Given the description of an element on the screen output the (x, y) to click on. 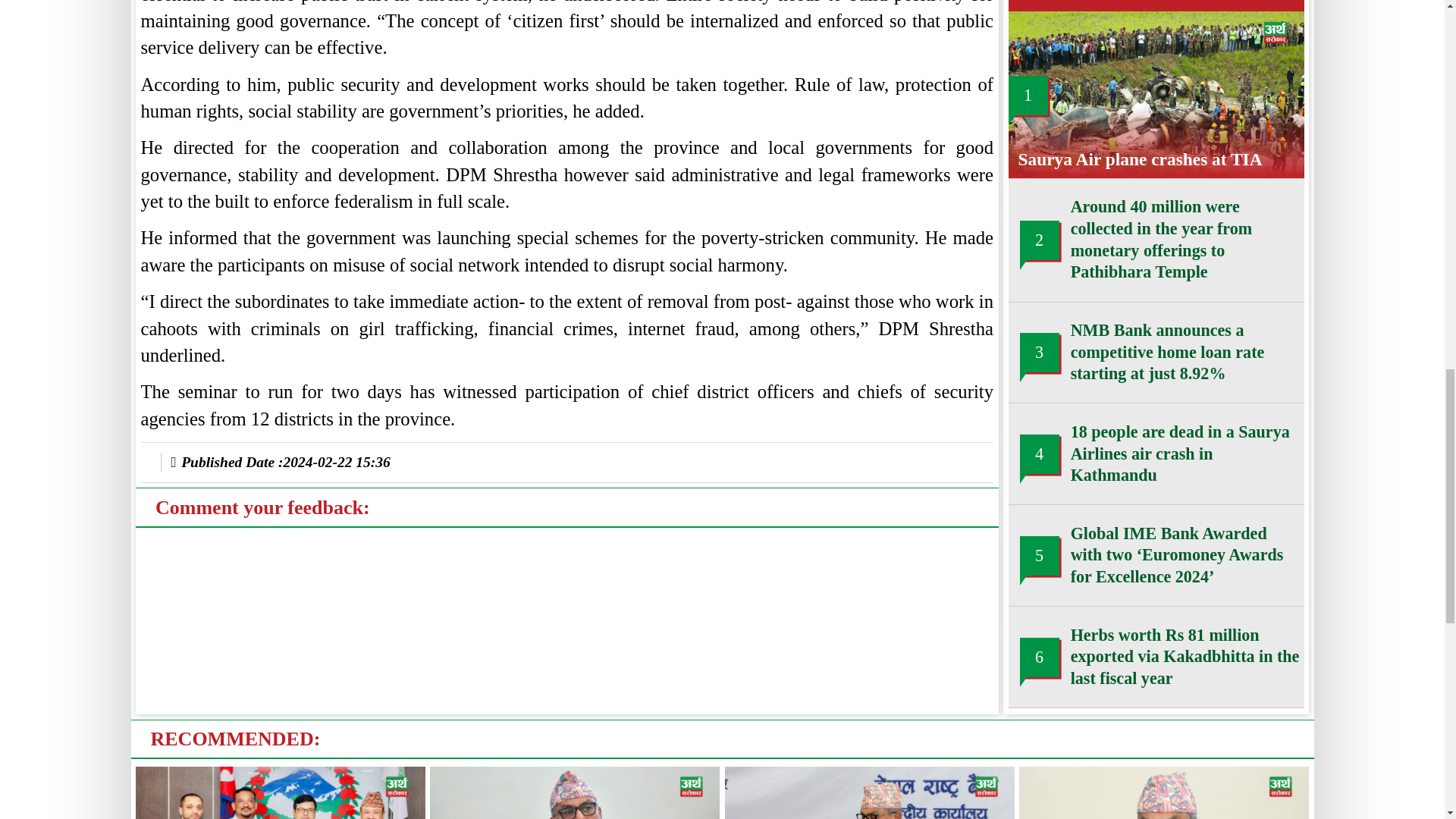
youtube (252, 745)
facebook (176, 745)
truth-social (328, 745)
Comment your feedback: (201, 123)
tiktok (290, 745)
twitter (214, 745)
